Given the description of an element on the screen output the (x, y) to click on. 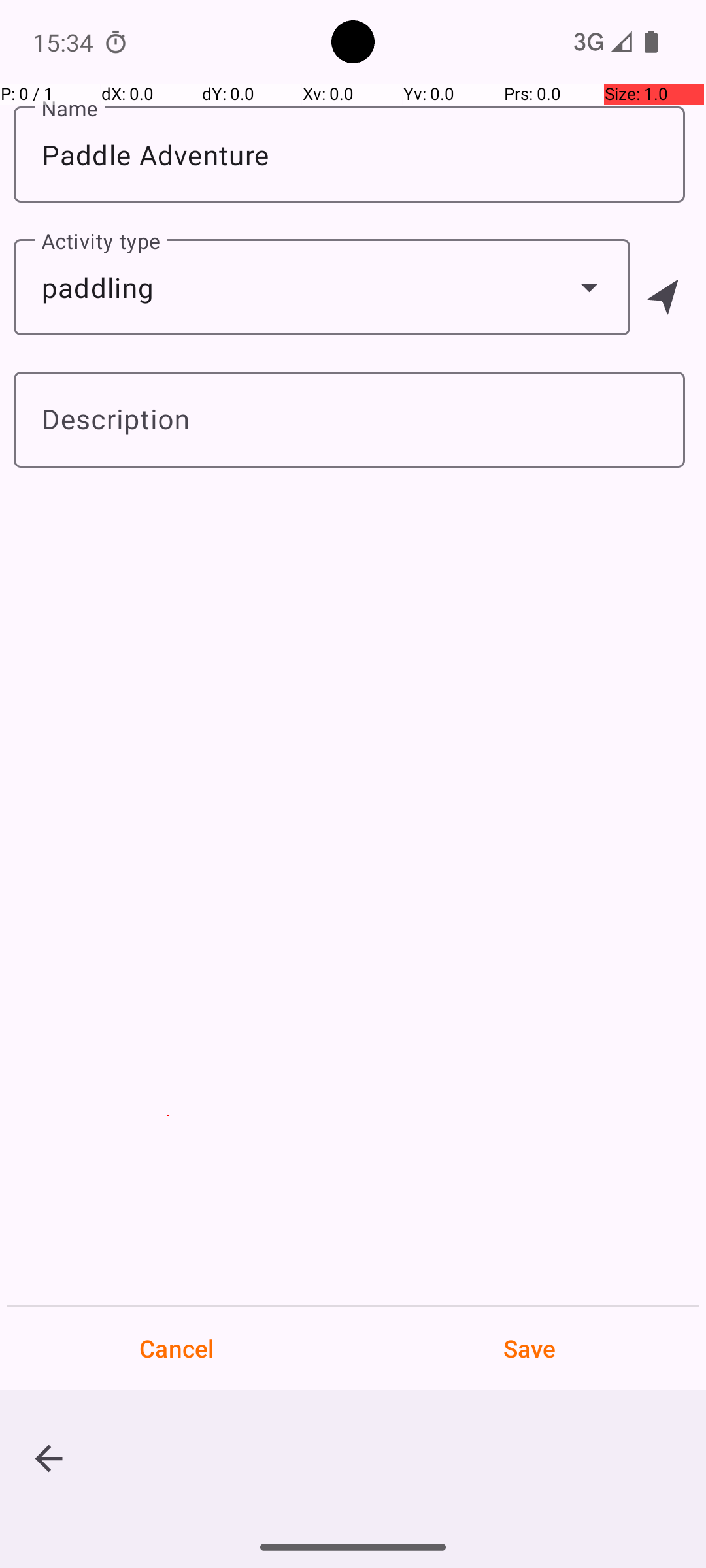
Paddle Adventure Element type: android.widget.EditText (349, 154)
paddling Element type: android.widget.AutoCompleteTextView (321, 287)
